Given the description of an element on the screen output the (x, y) to click on. 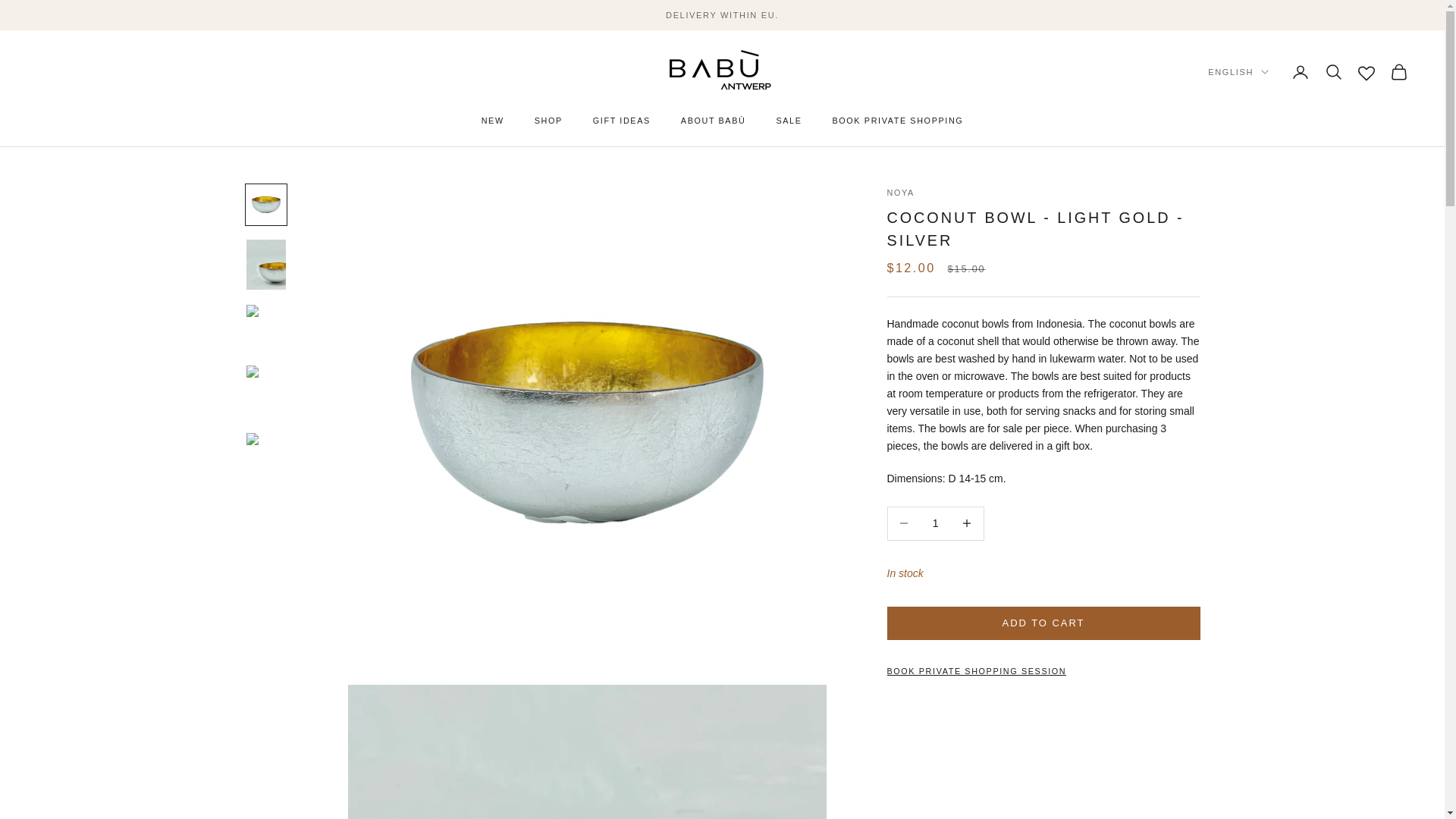
Open search (1333, 72)
ENGLISH (1238, 71)
BOOK PRIVATE SHOPPING (897, 120)
Open account page (1299, 72)
SALE (789, 120)
1 (935, 522)
NEW (492, 120)
Boek private shopping sessie (976, 670)
Open cart (1398, 72)
